Given the description of an element on the screen output the (x, y) to click on. 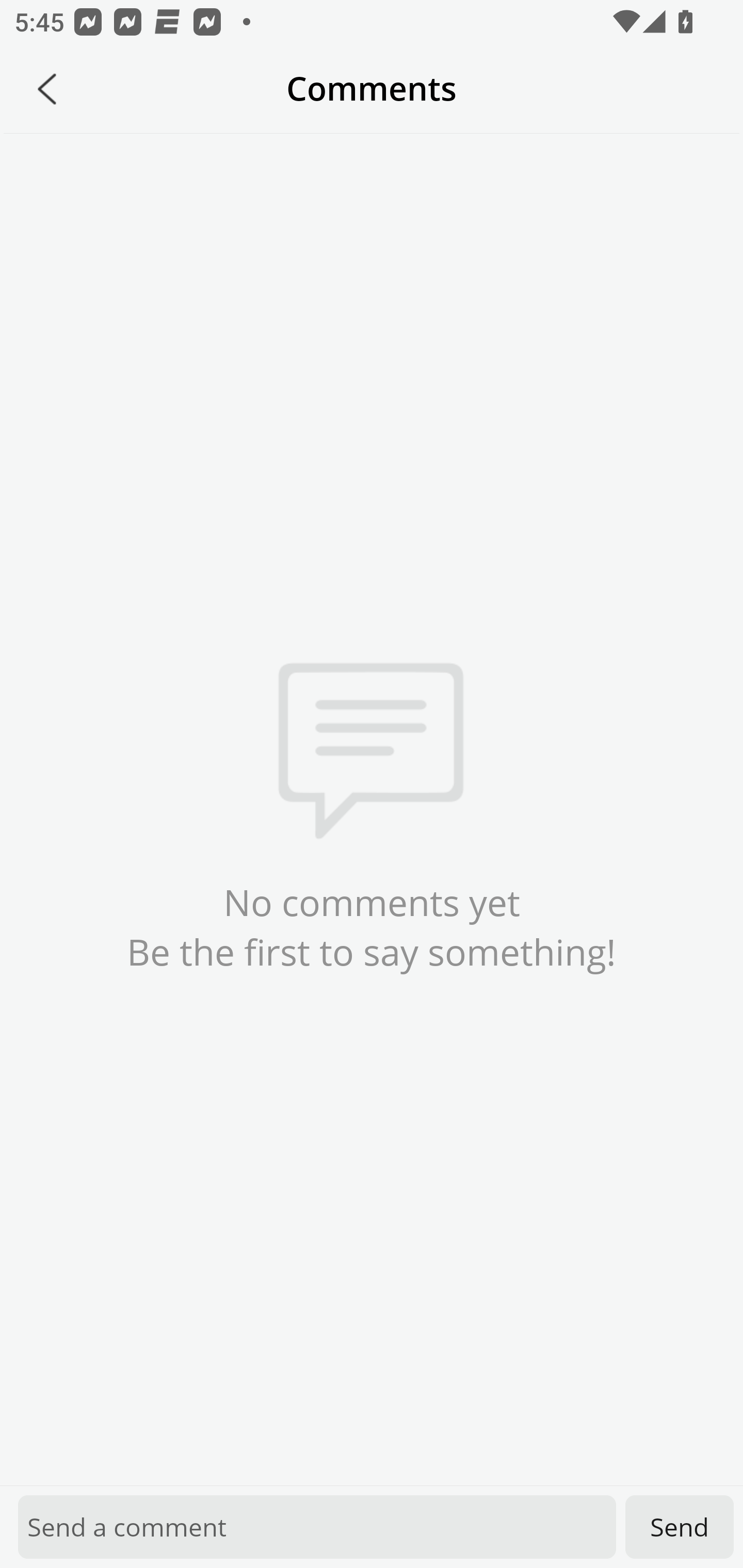
Back (46, 88)
Send a comment (316, 1526)
Send (679, 1526)
